Given the description of an element on the screen output the (x, y) to click on. 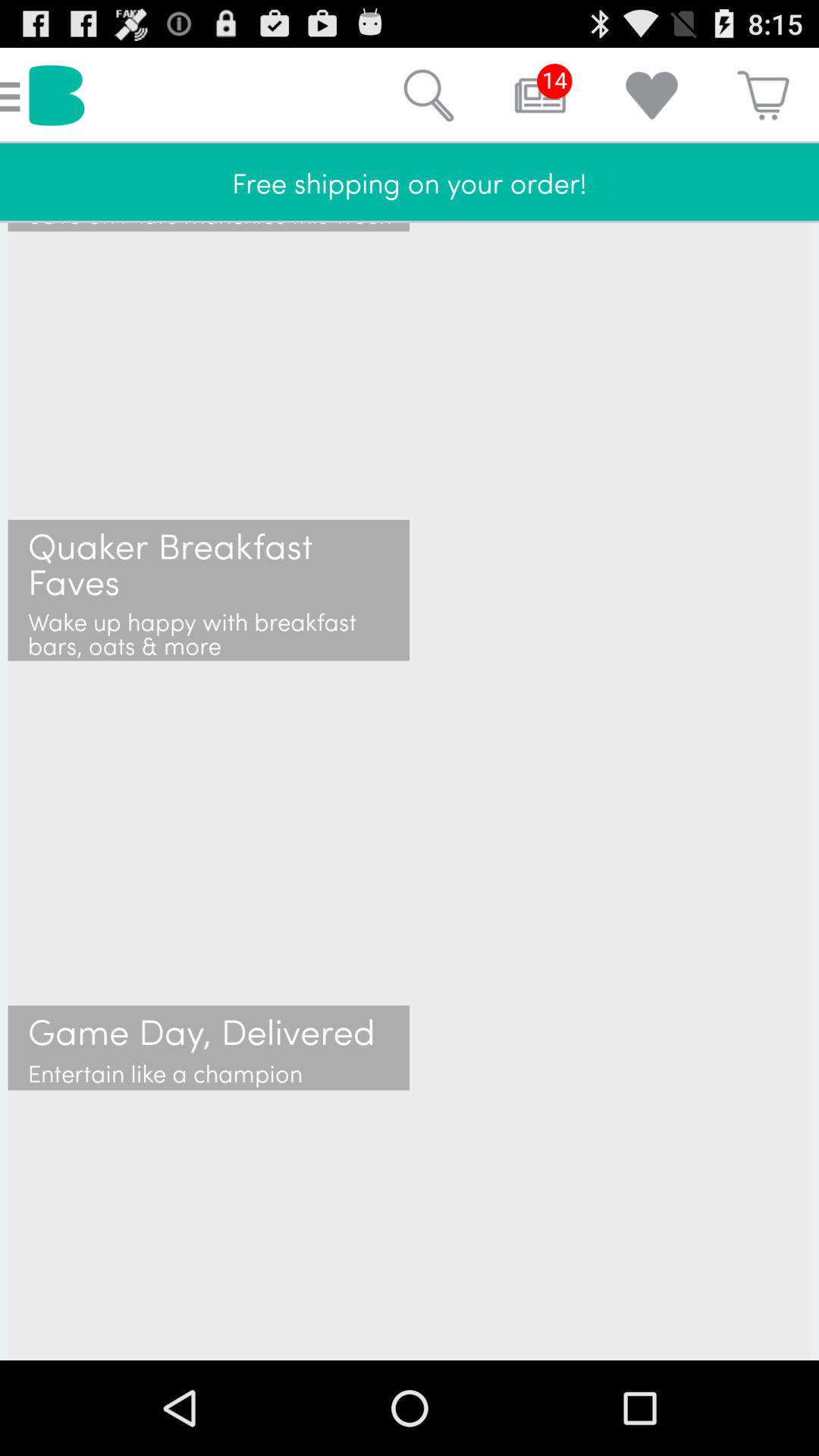
click on the top right corner icon (763, 95)
